Given the description of an element on the screen output the (x, y) to click on. 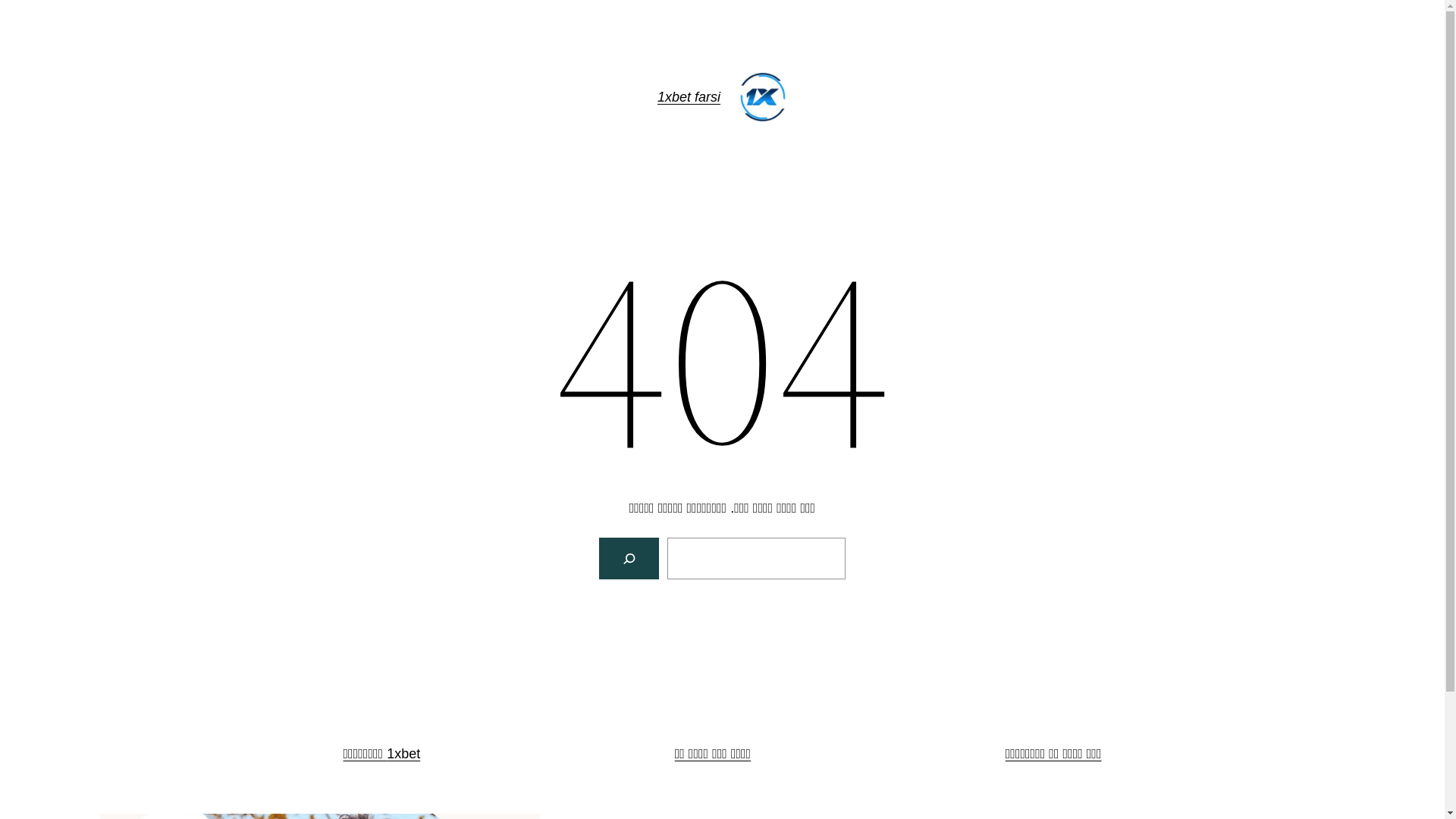
1xbet farsi Element type: text (688, 96)
